Given the description of an element on the screen output the (x, y) to click on. 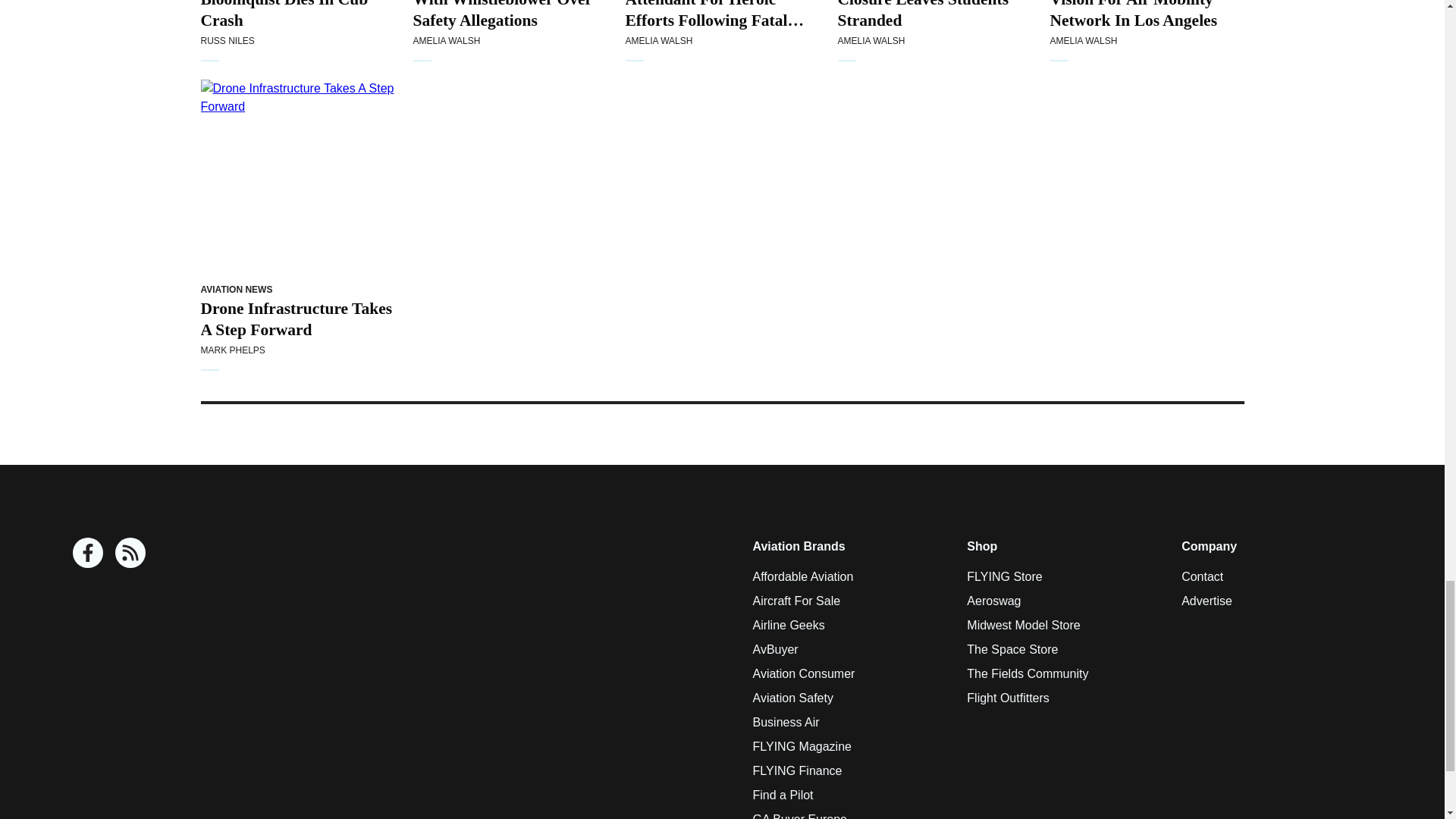
Drone Infrastructure Takes A Step Forward (297, 176)
Facebook (87, 552)
Rss (130, 552)
